Given the description of an element on the screen output the (x, y) to click on. 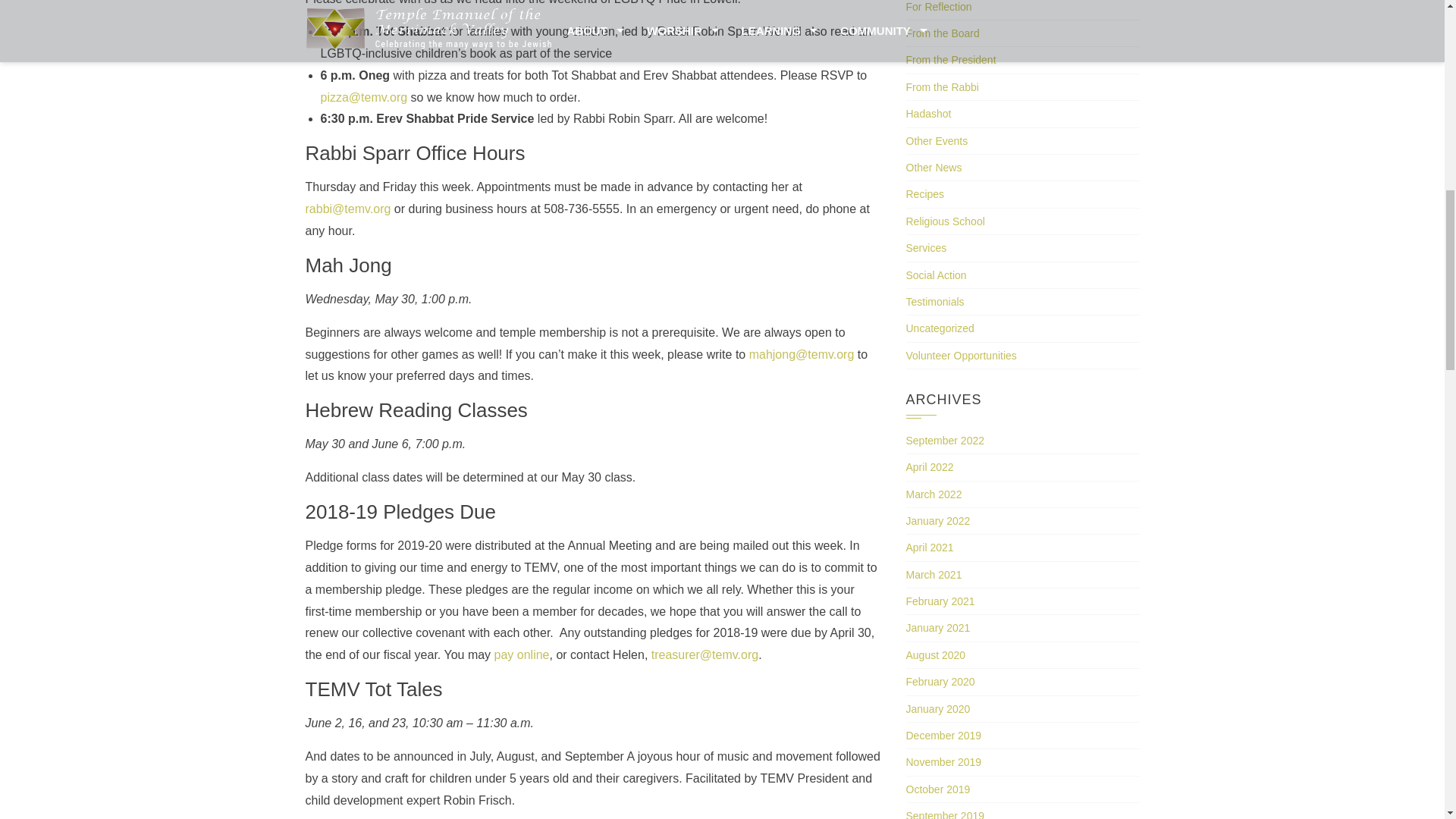
pay online (522, 654)
